Given the description of an element on the screen output the (x, y) to click on. 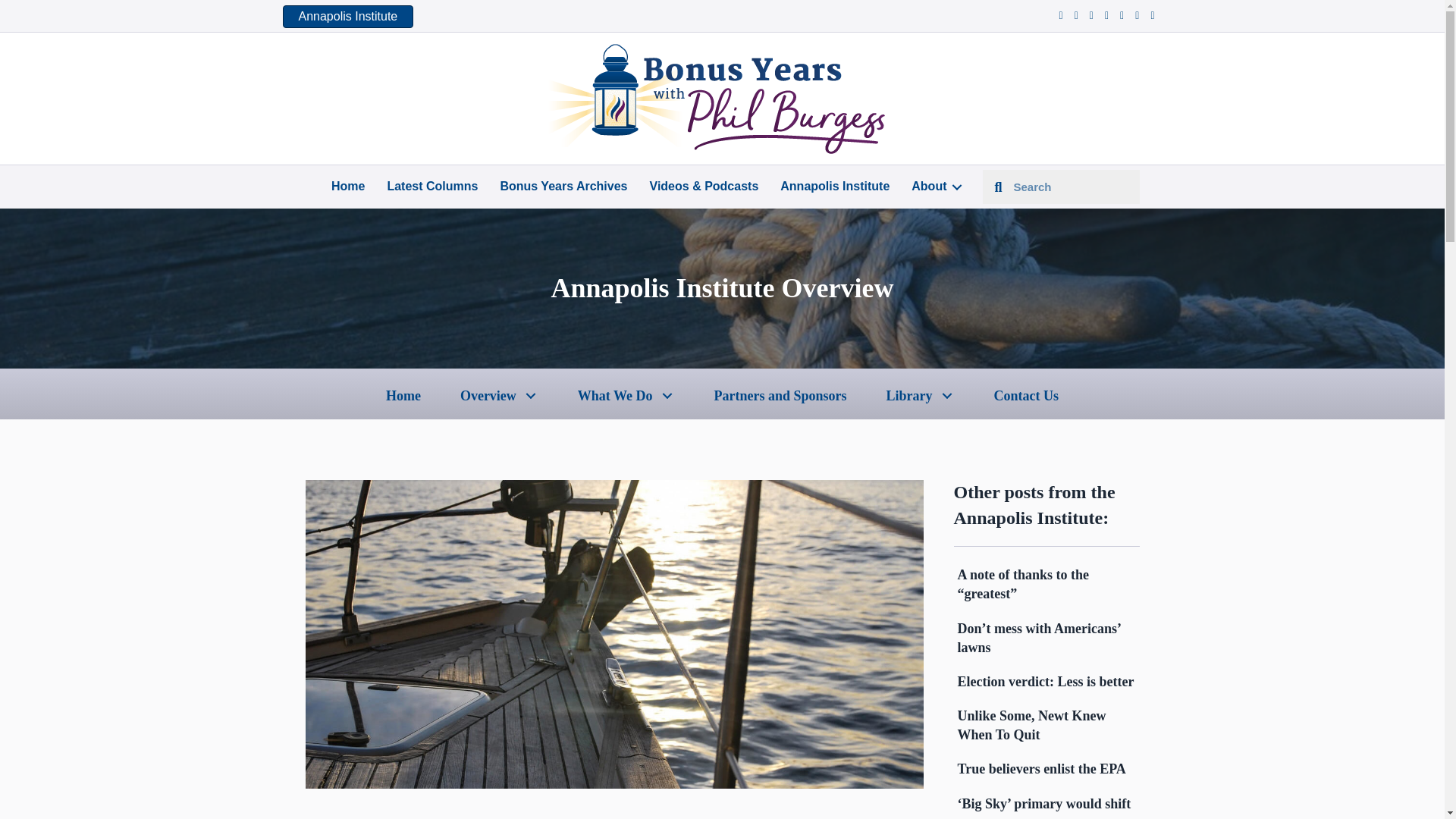
Search (1071, 186)
Contact Us (1026, 395)
Library (920, 395)
Bonus Years Archives (563, 186)
About (934, 186)
Overview (499, 395)
Election verdict: Less is better (1045, 681)
Partners and Sponsors (781, 395)
Annapolis Institute (347, 15)
Home (347, 186)
